Given the description of an element on the screen output the (x, y) to click on. 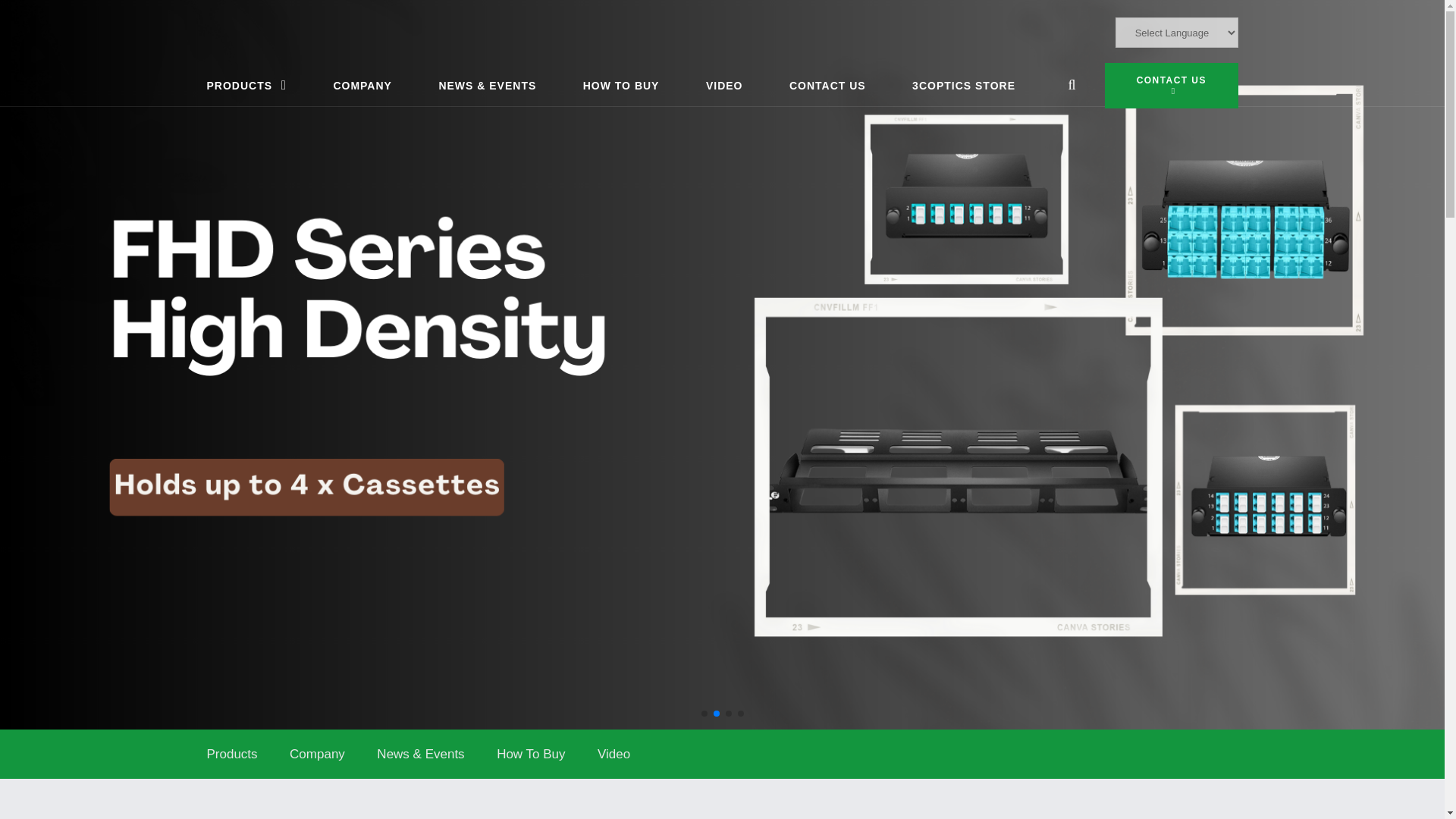
PRODUCTS (246, 85)
